Given the description of an element on the screen output the (x, y) to click on. 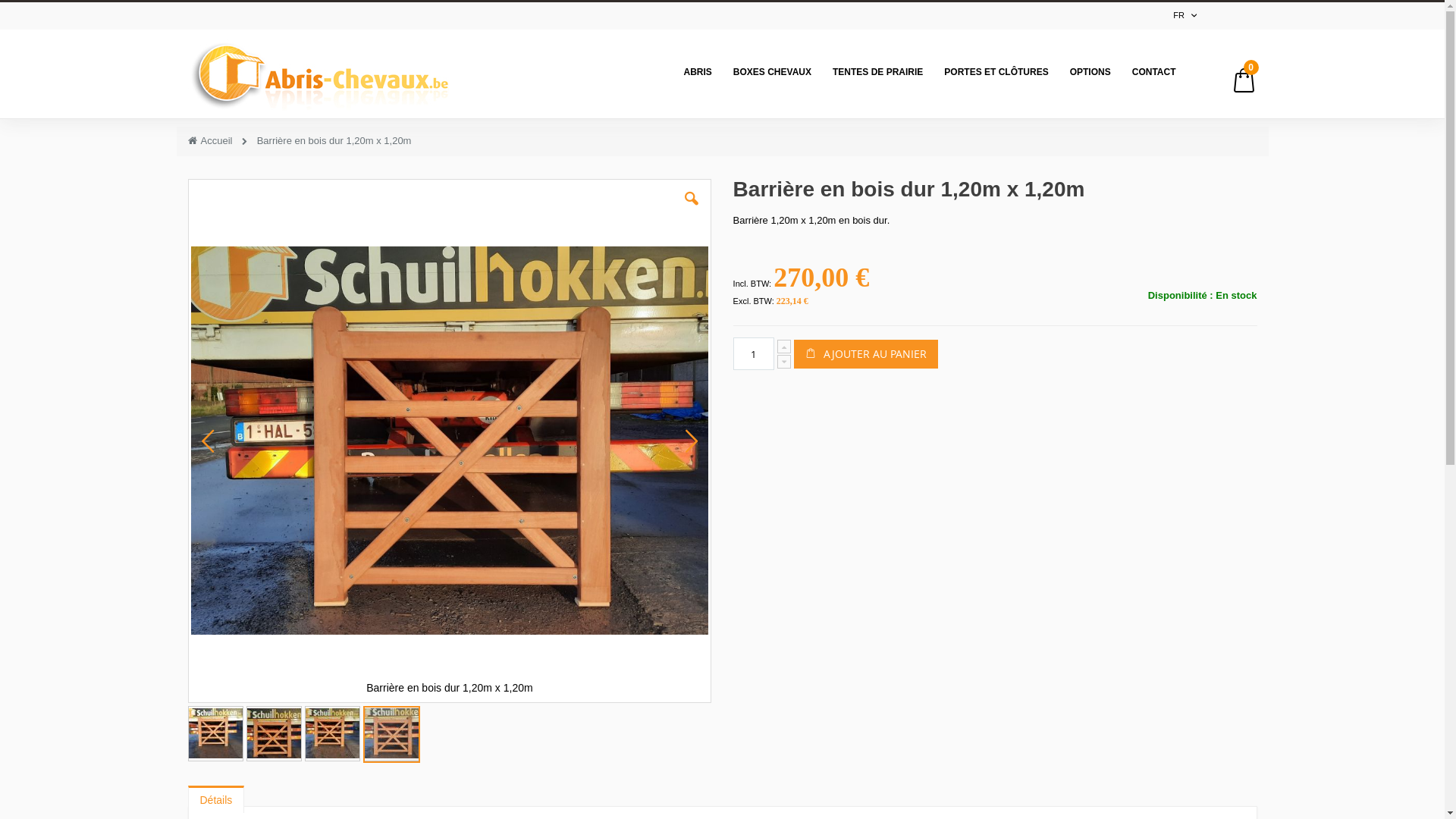
TENTES DE PRAIRIE Element type: text (877, 71)
ABRIS Element type: text (697, 71)
CONTACT Element type: text (1154, 71)
AJOUTER AU PANIER Element type: text (865, 353)
Accueil Element type: text (210, 140)
Cart
0 Element type: text (1243, 82)
BOXES CHEVAUX Element type: text (772, 71)
OPTIONS Element type: text (1090, 71)
